Given the description of an element on the screen output the (x, y) to click on. 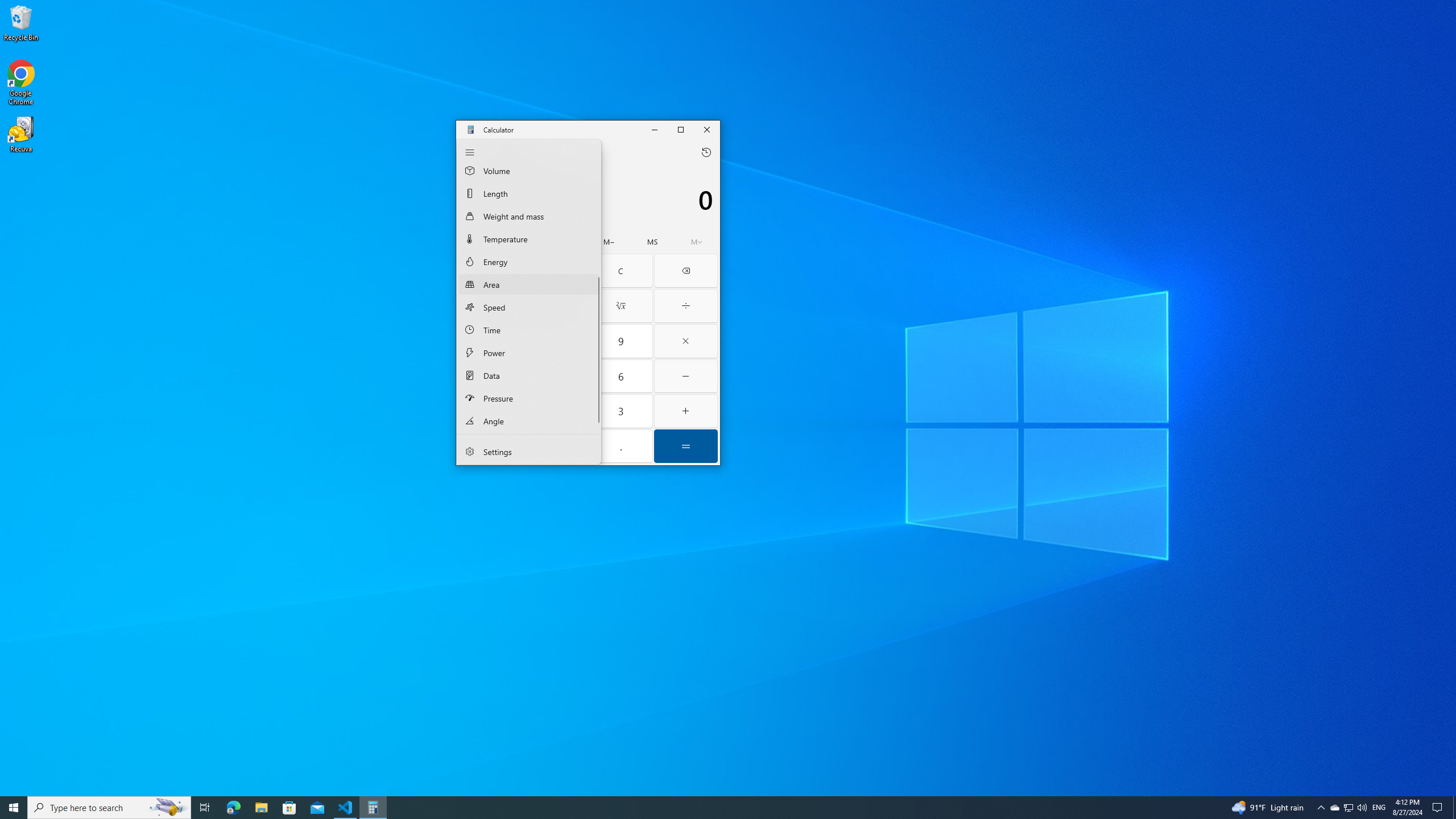
Temperature Converter (528, 238)
Search highlights icon opens search home window (167, 807)
Volume Converter (528, 171)
Length Converter (528, 193)
Keep on top (544, 152)
Area Converter (528, 284)
Data Converter (528, 375)
Clear (620, 270)
Divide by (685, 305)
Memory recall (522, 241)
Visual Studio Code - 1 running window (345, 807)
Decimal separator (620, 445)
User Promoted Notification Area (1347, 807)
Vertical Small Increase (597, 428)
Speed Converter (528, 306)
